Given the description of an element on the screen output the (x, y) to click on. 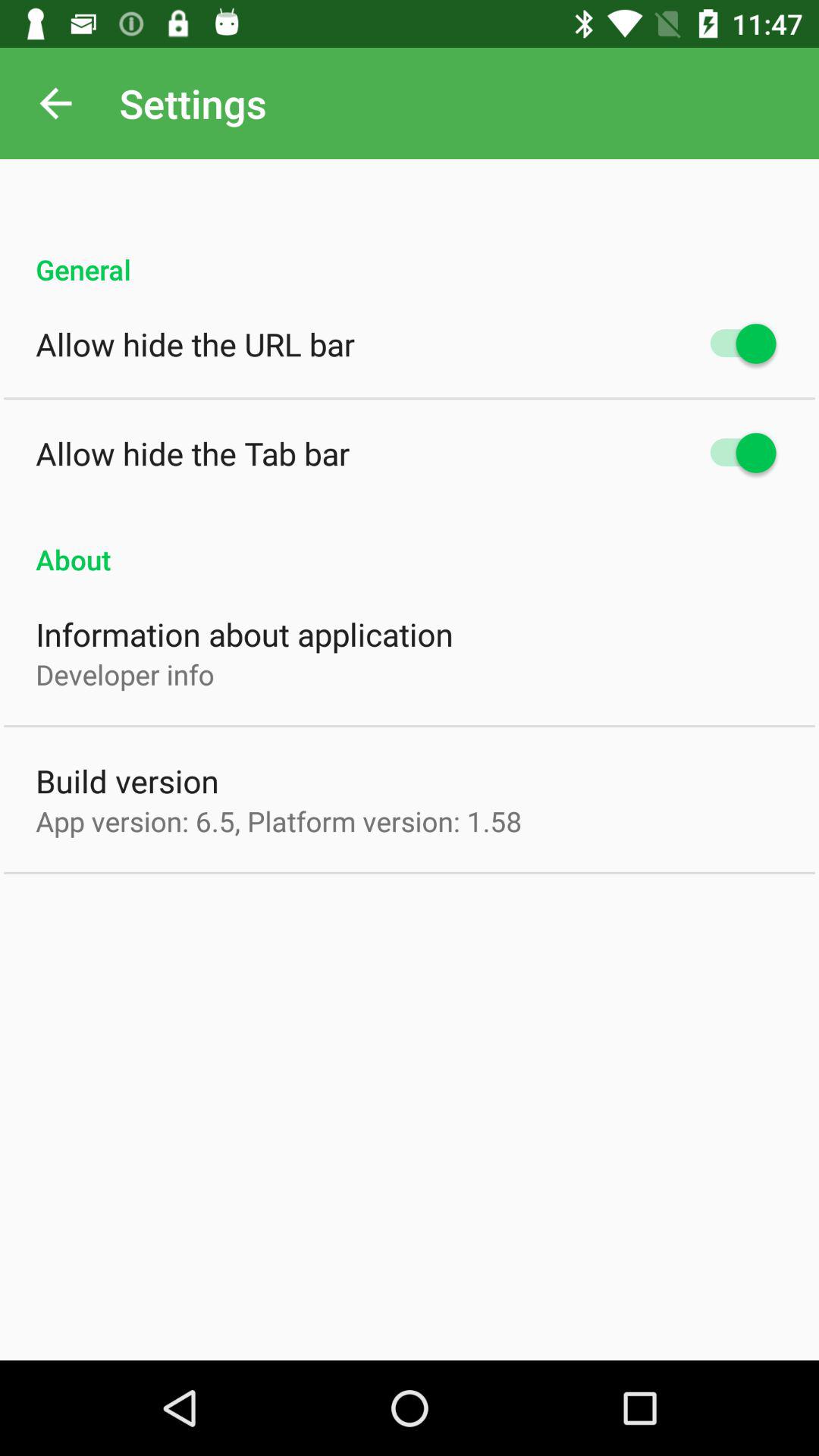
jump to the build version item (126, 780)
